Given the description of an element on the screen output the (x, y) to click on. 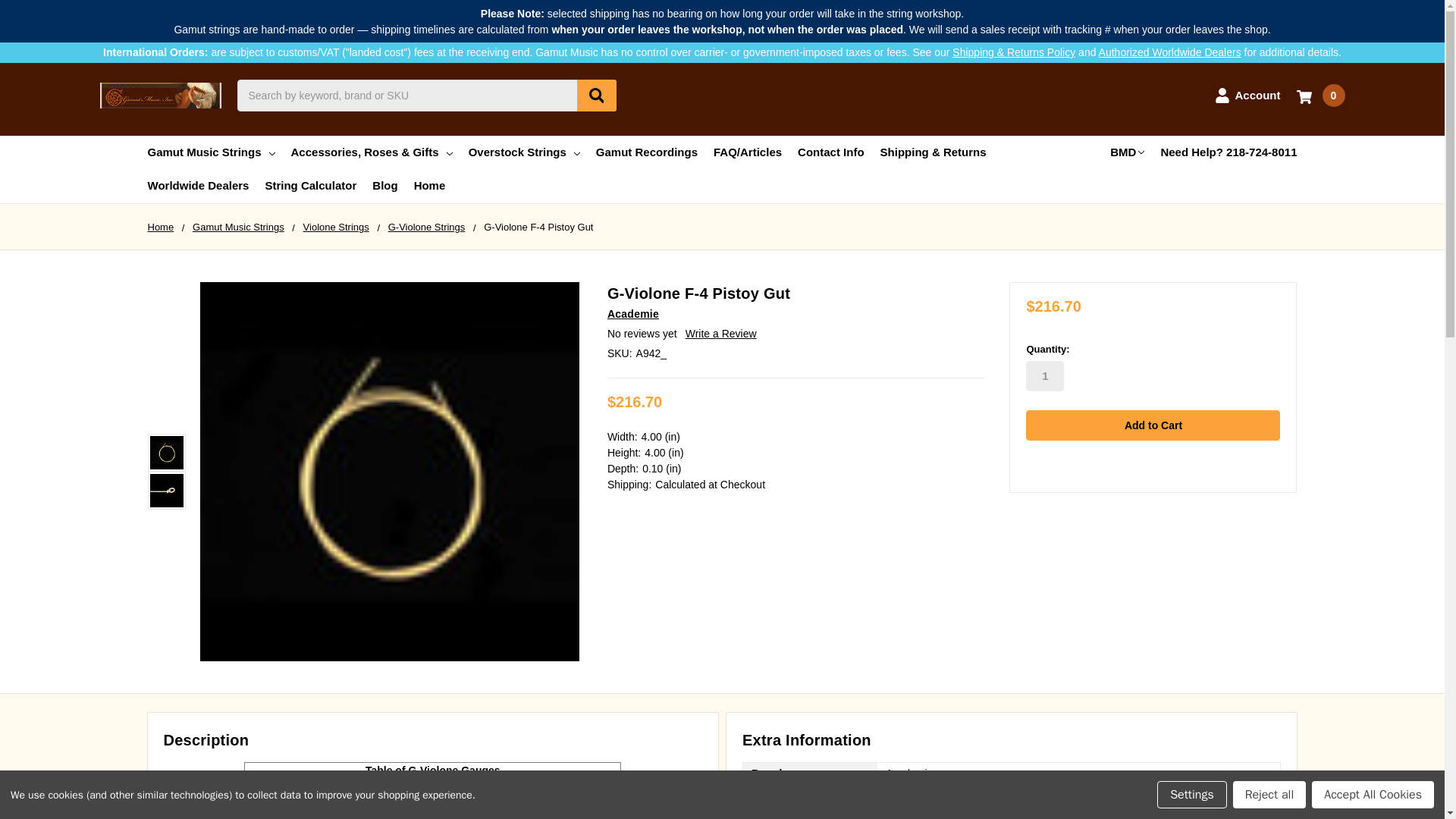
Violone F-4 Pistoy (166, 452)
Gamut Music Strings (211, 151)
Violone F-4 Pistoy Knot (166, 490)
1 (1045, 376)
Account (1247, 95)
Authorized Worldwide Dealers (1170, 51)
Add to Cart (1152, 425)
0 (1321, 95)
Gamut Music (160, 95)
